Given the description of an element on the screen output the (x, y) to click on. 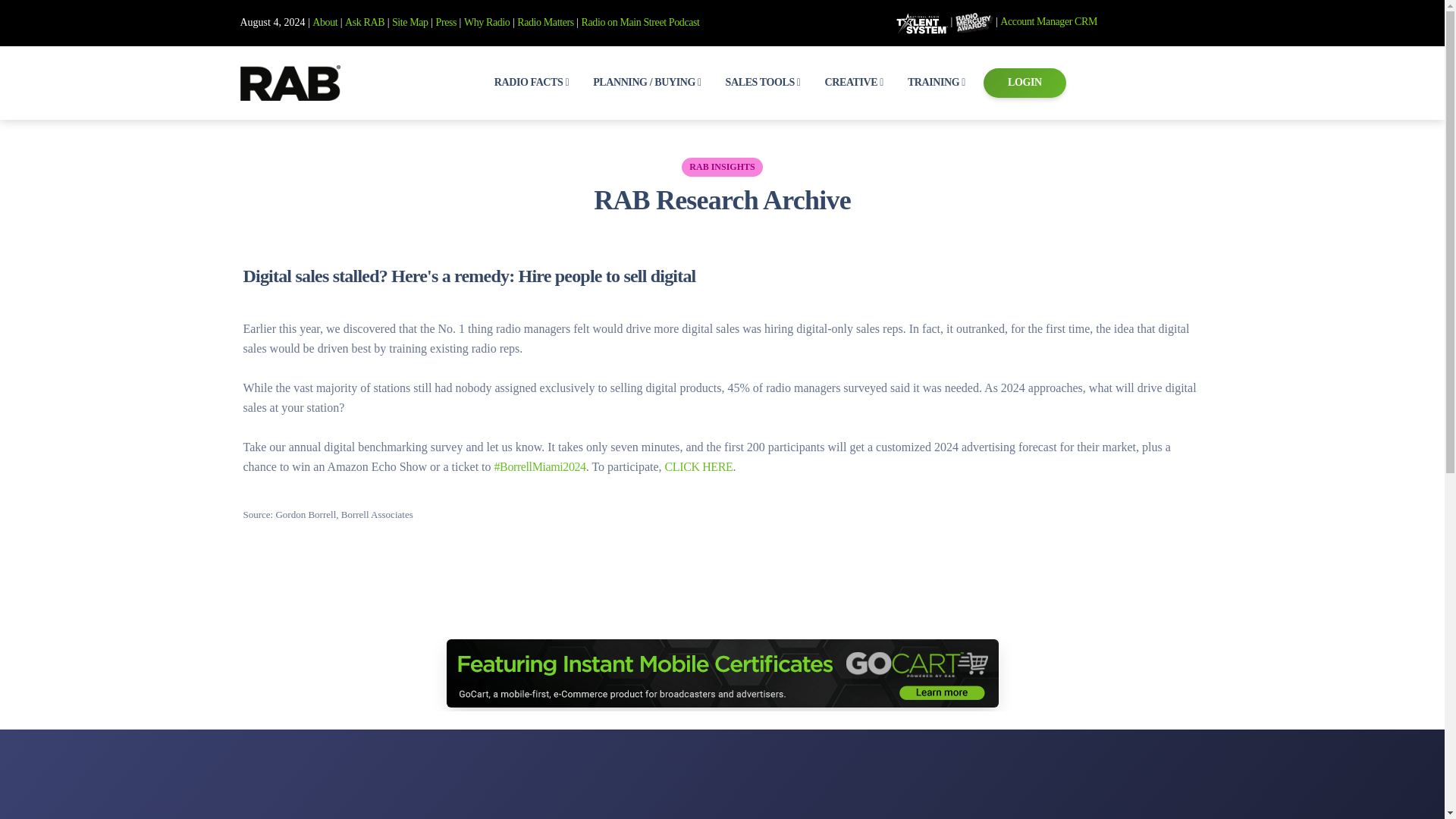
RADIO FACTS (531, 82)
Radio on Main Street Podcast (640, 21)
Why Radio (487, 21)
Site Map (409, 21)
Press (446, 21)
Ask RAB (364, 21)
Radio Matters (544, 21)
About (325, 21)
Account Manager CRM (1048, 21)
